Given the description of an element on the screen output the (x, y) to click on. 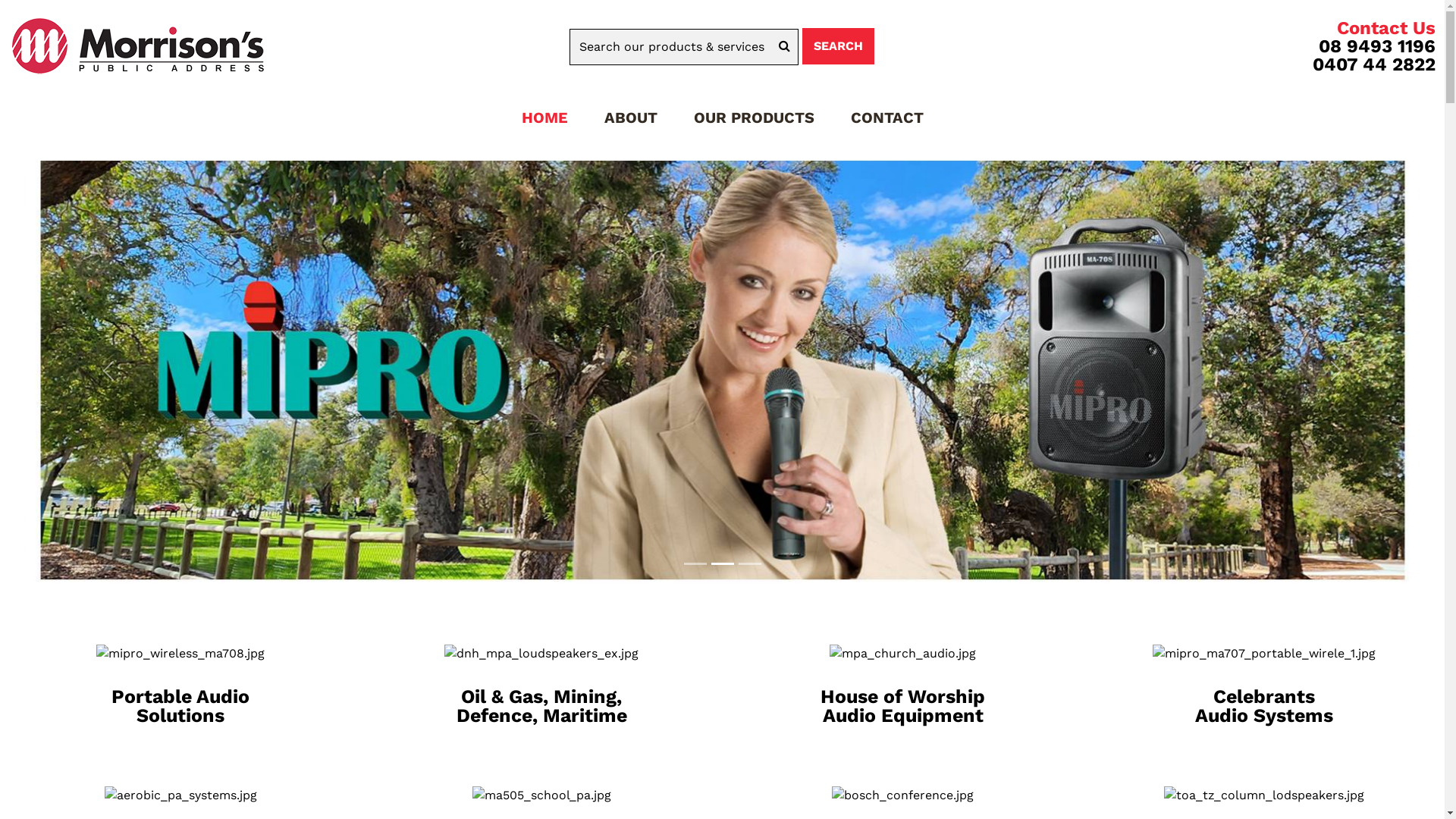
CONTACT Element type: text (886, 117)
OUR PRODUCTS Element type: text (752, 117)
House of Worship
Audio Equipment Element type: text (902, 705)
Portable Audio
Solutions Element type: text (180, 705)
Previous Element type: text (108, 370)
Next Element type: text (1335, 370)
ABOUT Element type: text (629, 117)
HOME Element type: text (544, 117)
SEARCH Element type: text (838, 45)
Oil & Gas, Mining,
Defence, Maritime Element type: text (541, 705)
Celebrants
Audio Systems Element type: text (1264, 705)
